Given the description of an element on the screen output the (x, y) to click on. 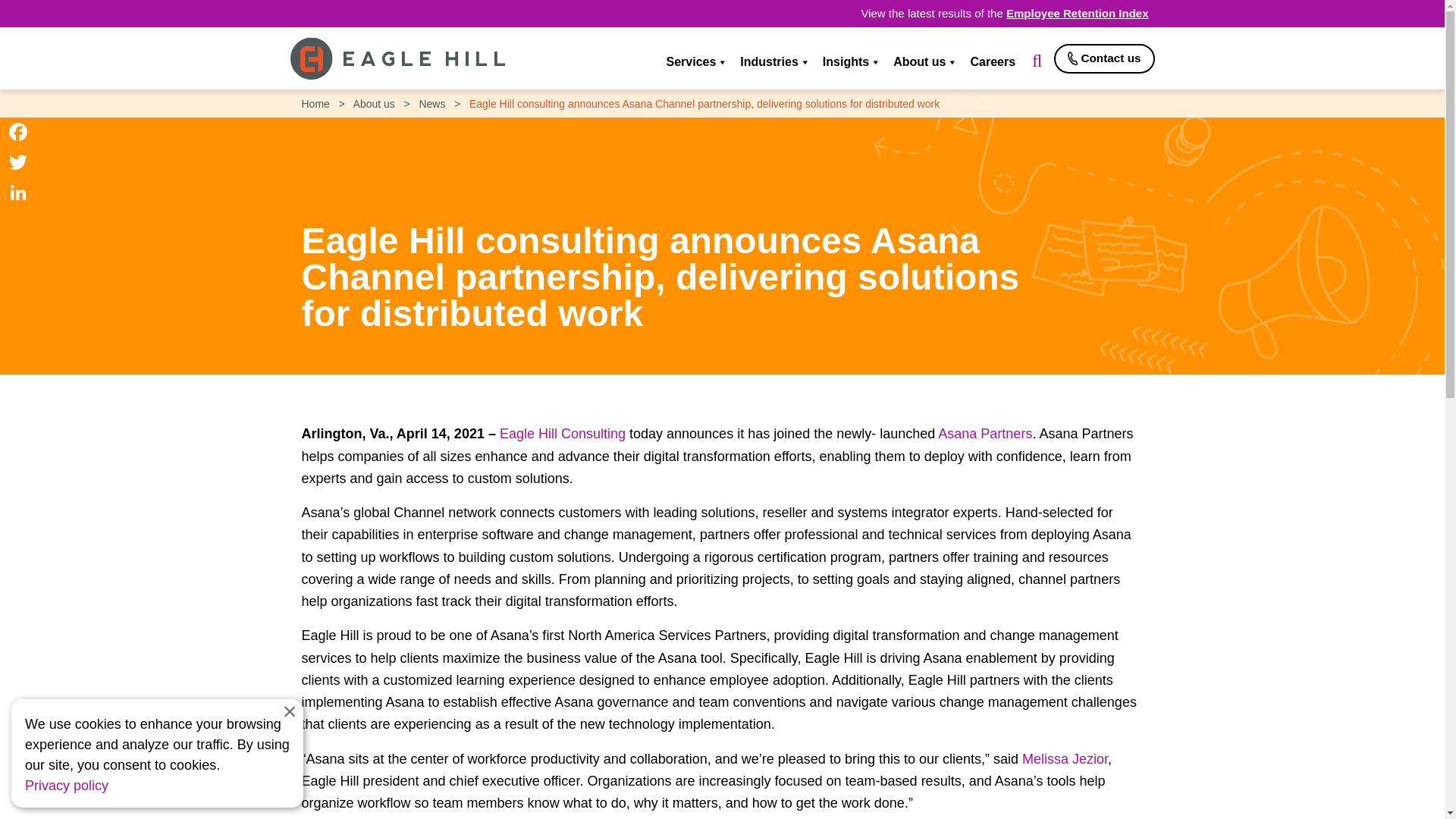
Employee Retention Index (1077, 12)
Services (695, 61)
Industries (772, 61)
Privacy policy (65, 785)
Insights (850, 61)
